Given the description of an element on the screen output the (x, y) to click on. 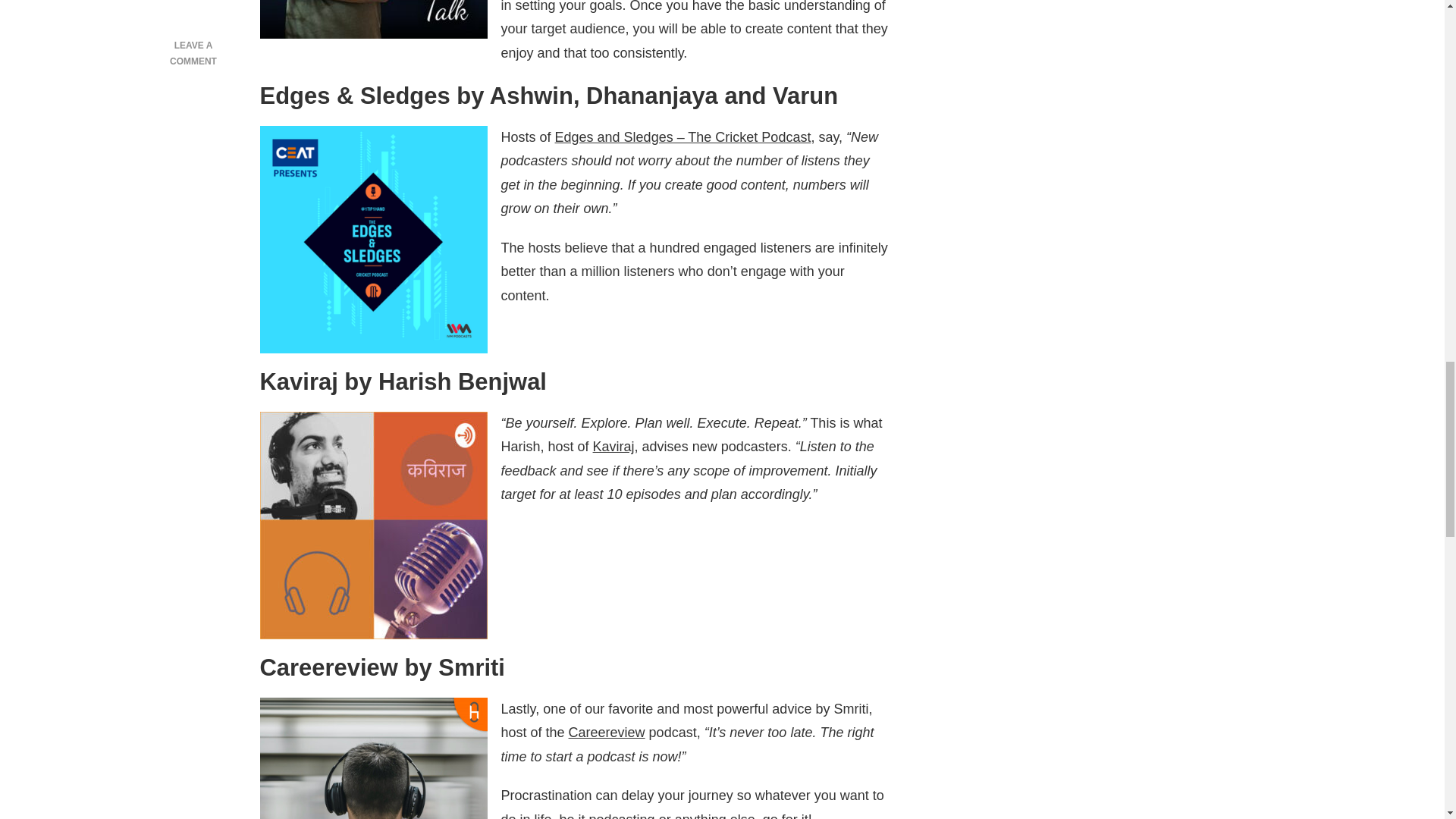
Kaviraj (613, 446)
Careereview (607, 732)
